Given the description of an element on the screen output the (x, y) to click on. 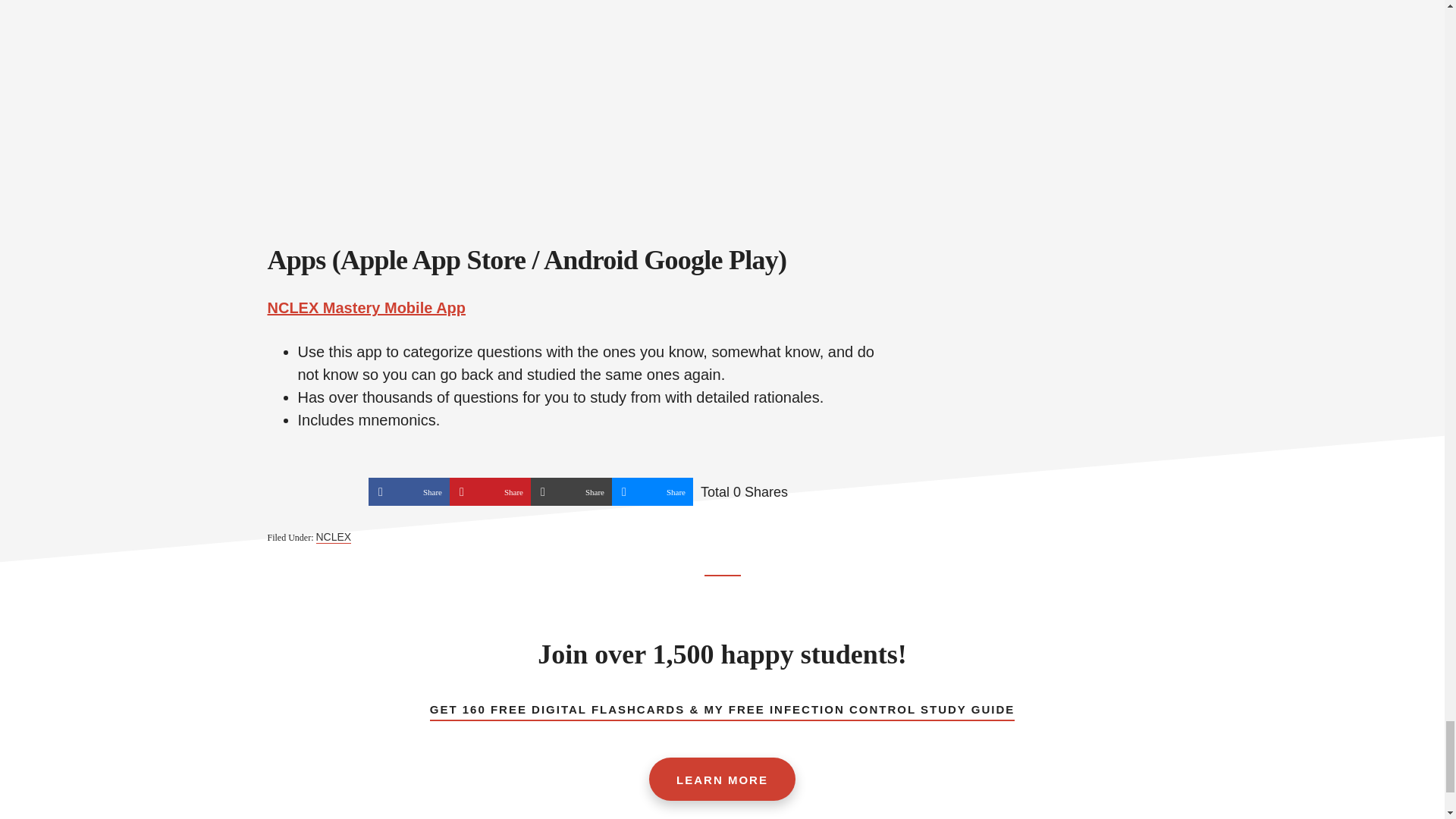
Share on Email  (571, 491)
Share (490, 491)
Share (652, 491)
NCLEX Mastery Mobile App (365, 307)
Share on Pinterest  (490, 491)
Share (571, 491)
Share (408, 491)
Share on Facebook  (408, 491)
NCLEX (332, 536)
Share on Messenger  (652, 491)
